Given the description of an element on the screen output the (x, y) to click on. 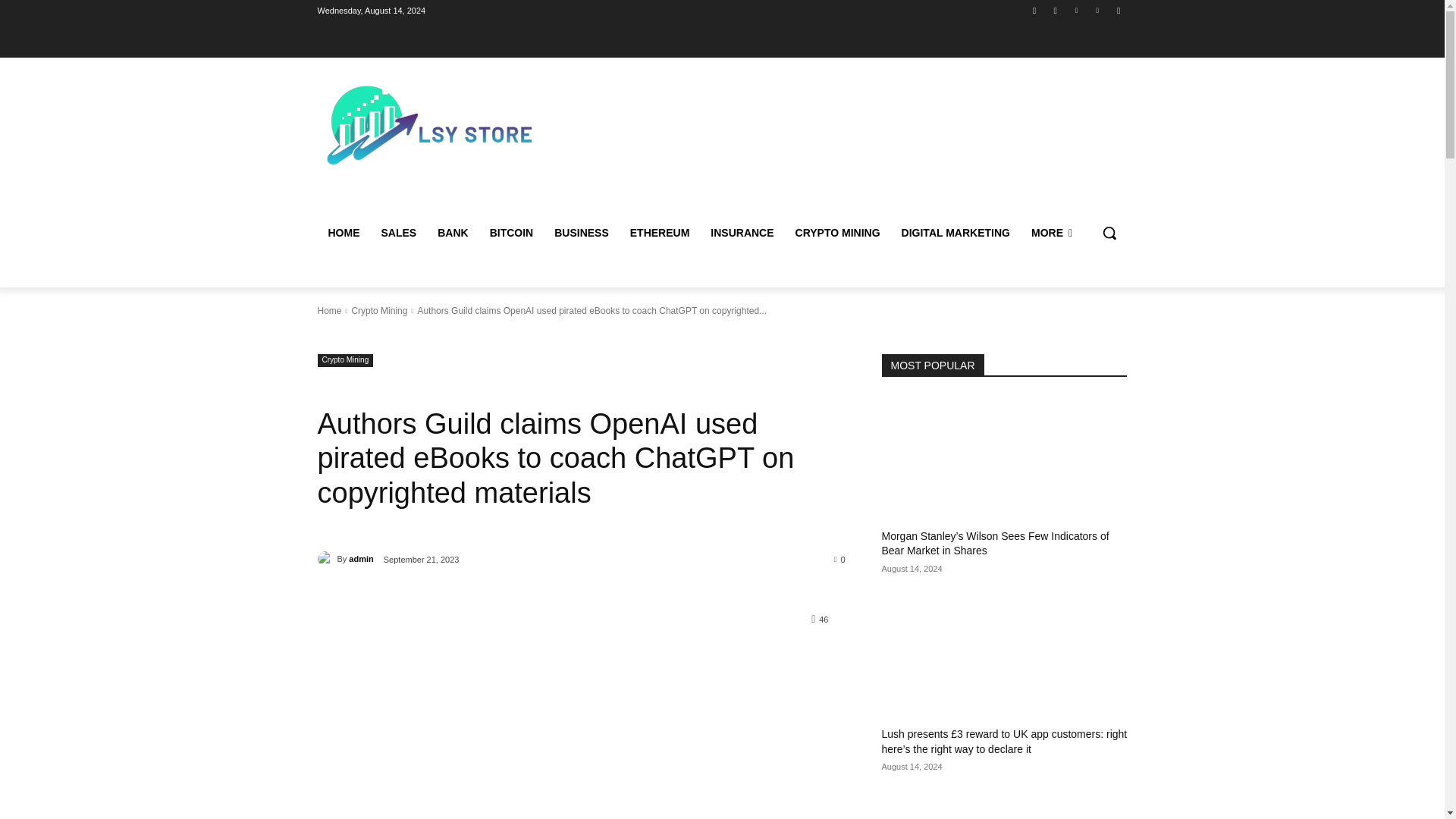
Facebook (1034, 9)
Instagram (1055, 9)
Youtube (1117, 9)
Twitter (1075, 9)
Vimeo (1097, 9)
